Given the description of an element on the screen output the (x, y) to click on. 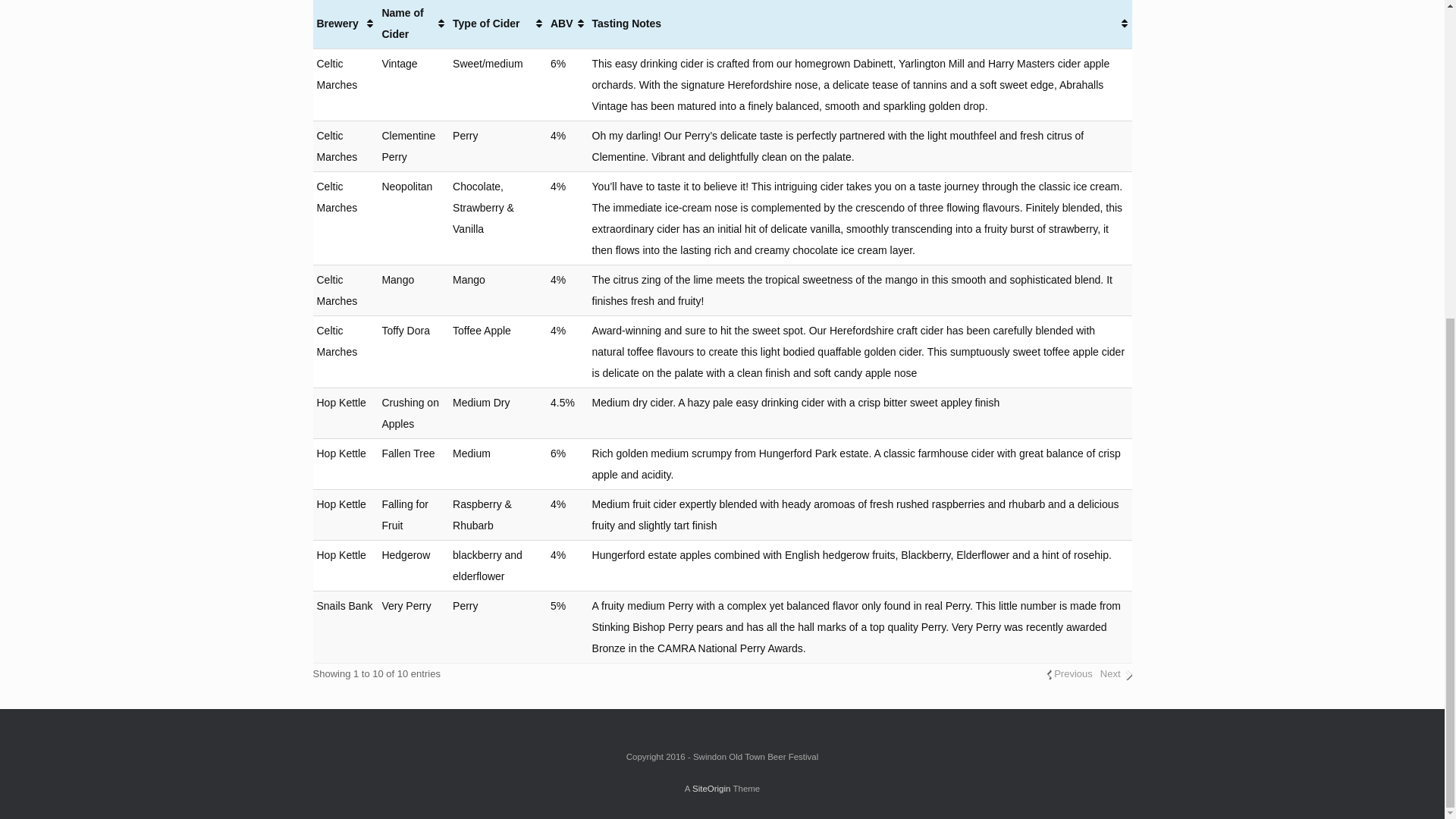
Next (1110, 674)
Previous (1073, 674)
SiteOrigin (711, 788)
